Given the description of an element on the screen output the (x, y) to click on. 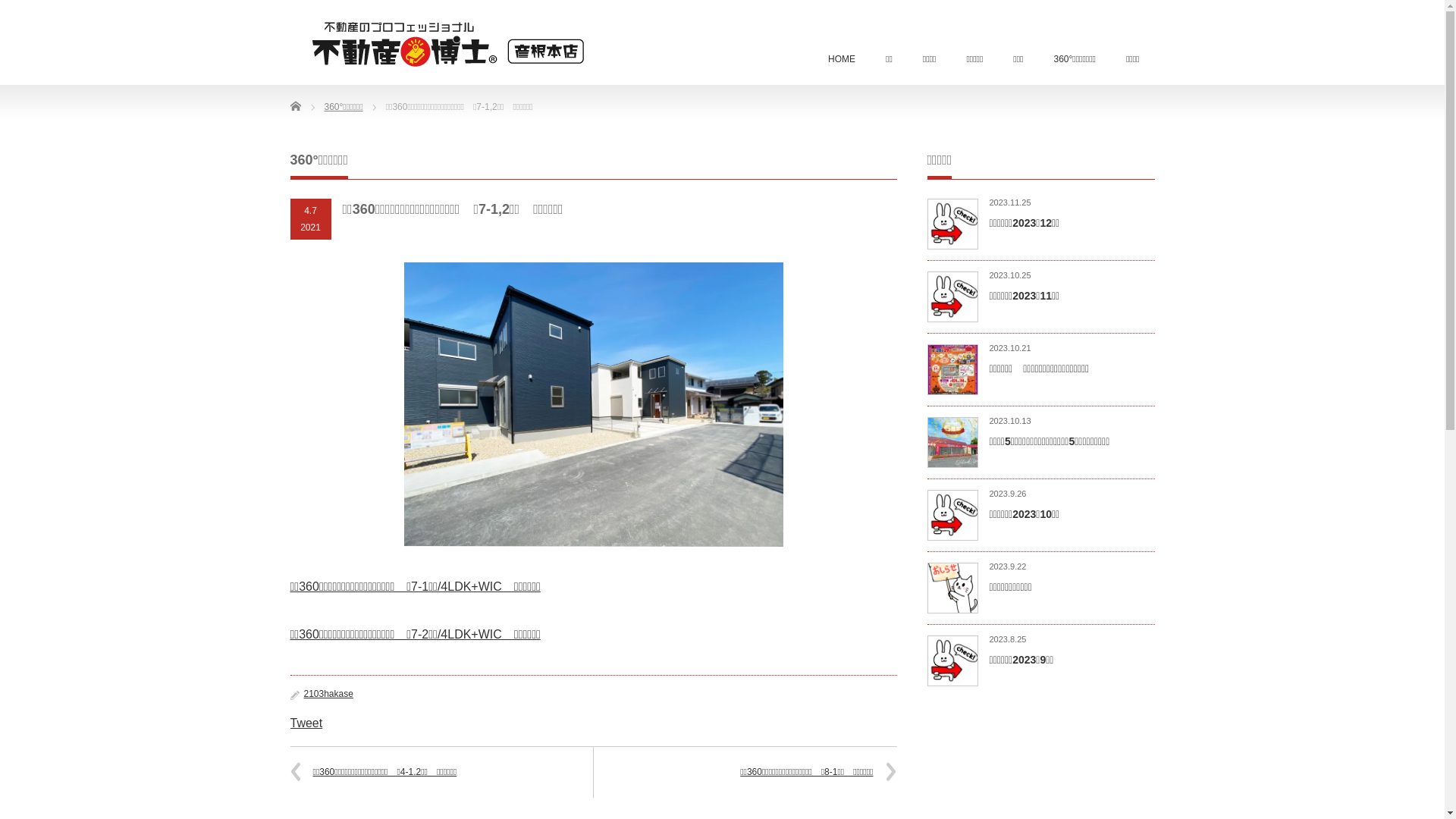
Tweet Element type: text (305, 722)
HOME Element type: text (841, 60)
2103hakase Element type: text (327, 693)
